Given the description of an element on the screen output the (x, y) to click on. 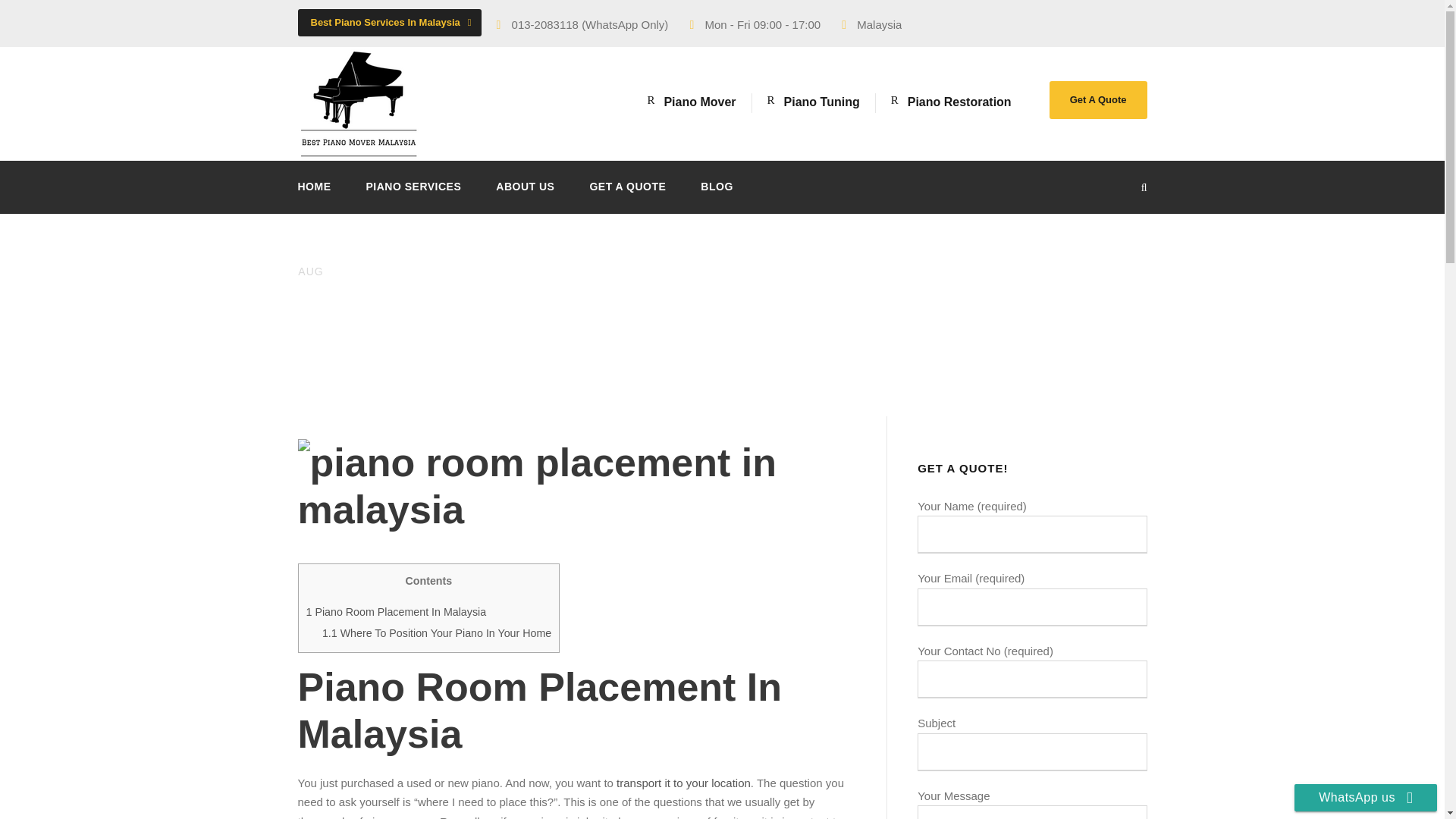
1.1 Where To Position Your Piano In Your Home (436, 633)
PIANO SERVICES (413, 195)
ABOUT US (525, 195)
transport it to your location (683, 782)
Get A Quote (1098, 99)
PIANO TIPS (729, 340)
Posts by Piano Mover Malaysia (441, 340)
PIANO MOVER (661, 340)
GET A QUOTE (627, 195)
PIANO MOVER MALAYSIA (441, 340)
BLOG (716, 195)
POSITION YOUR PIANO (817, 340)
PIANO TIPS (567, 340)
1 Piano Room Placement In Malaysia (395, 612)
HOME (313, 195)
